Given the description of an element on the screen output the (x, y) to click on. 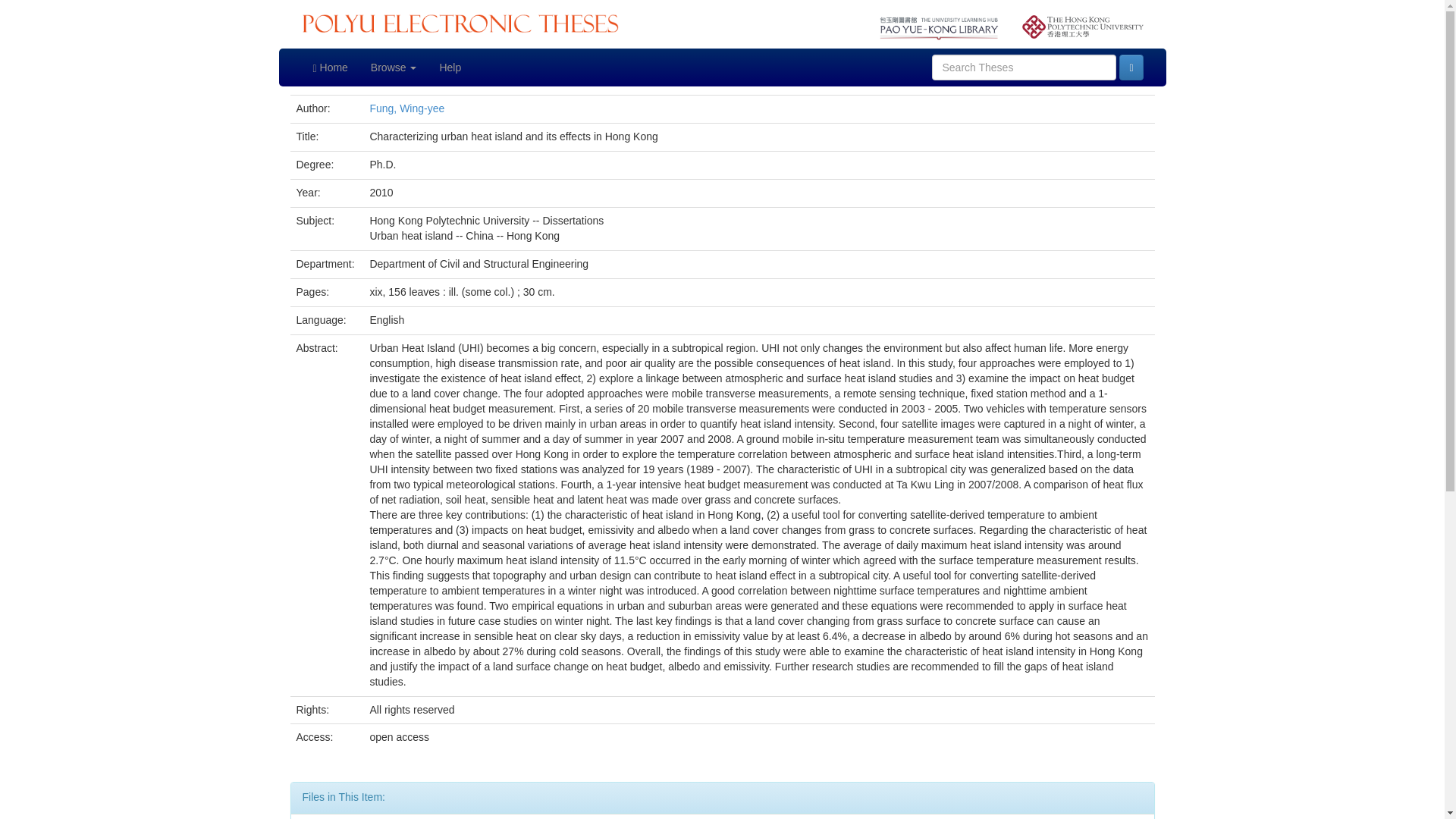
Fung, Wing-yee (406, 108)
Help (449, 67)
Browse (393, 67)
Home (330, 67)
